Given the description of an element on the screen output the (x, y) to click on. 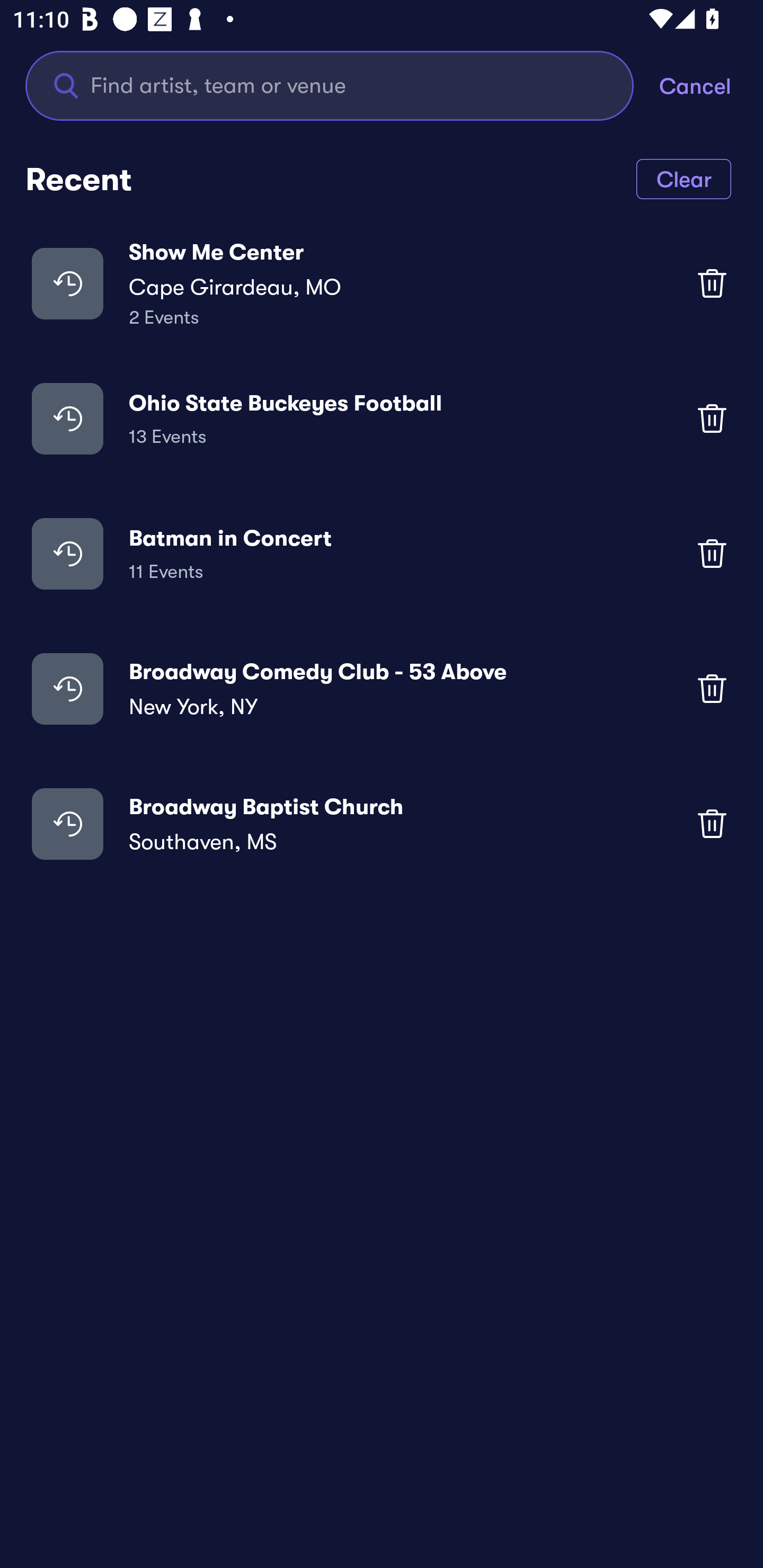
Cancel (711, 85)
Find artist, team or venue Find (329, 85)
Find artist, team or venue Find (341, 85)
Clear (683, 178)
Show Me Center Cape Girardeau, MO 2 Events (381, 282)
Ohio State Buckeyes Football 13 Events (381, 417)
Batman in Concert 11 Events (381, 553)
Broadway Comedy Club - 53 Above New York, NY (381, 688)
Broadway Baptist Church Southaven, MS (381, 823)
